Given the description of an element on the screen output the (x, y) to click on. 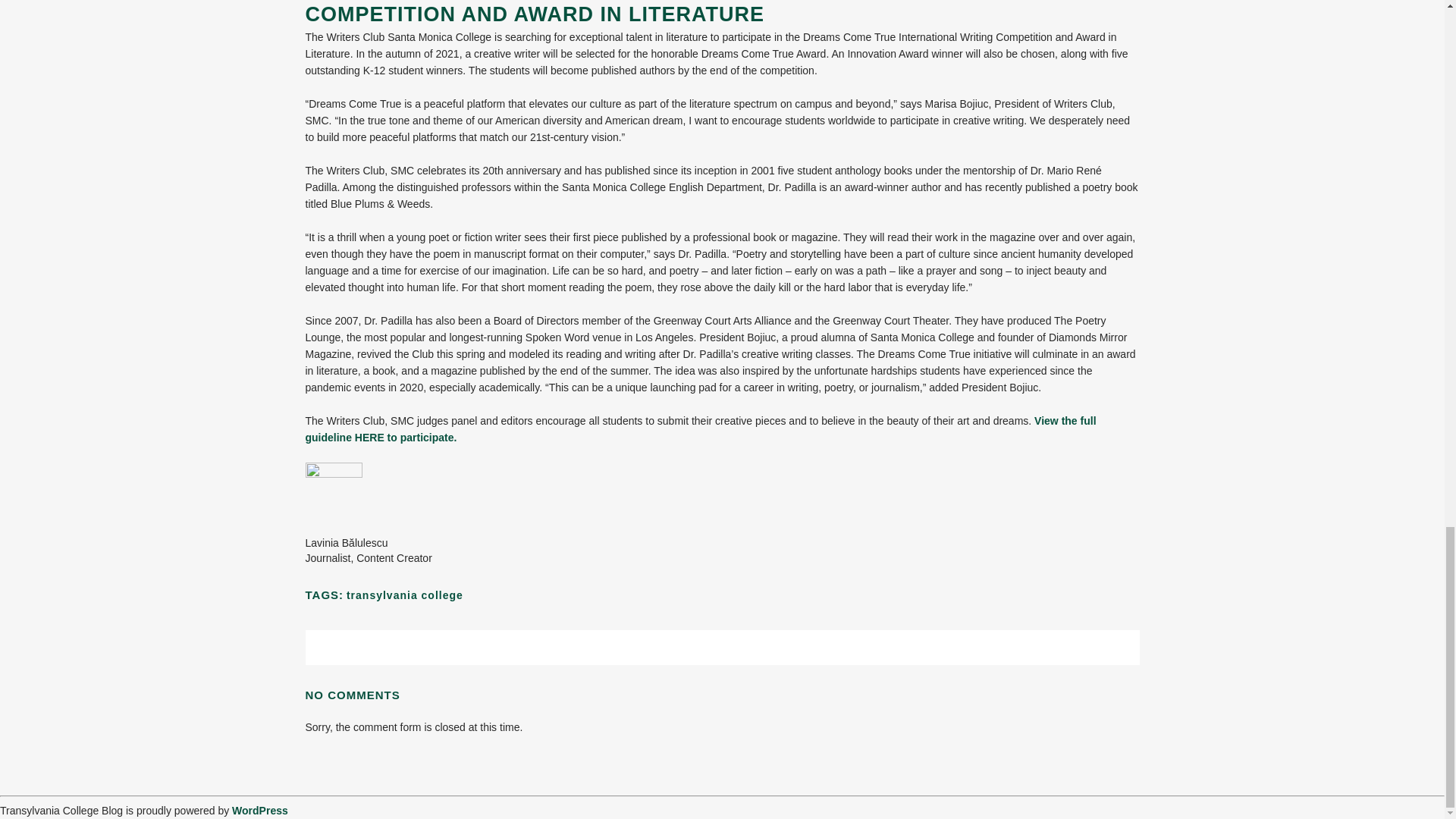
transylvania college (404, 594)
View the full guideline HERE to participate.  (700, 428)
WordPress (259, 810)
